Given the description of an element on the screen output the (x, y) to click on. 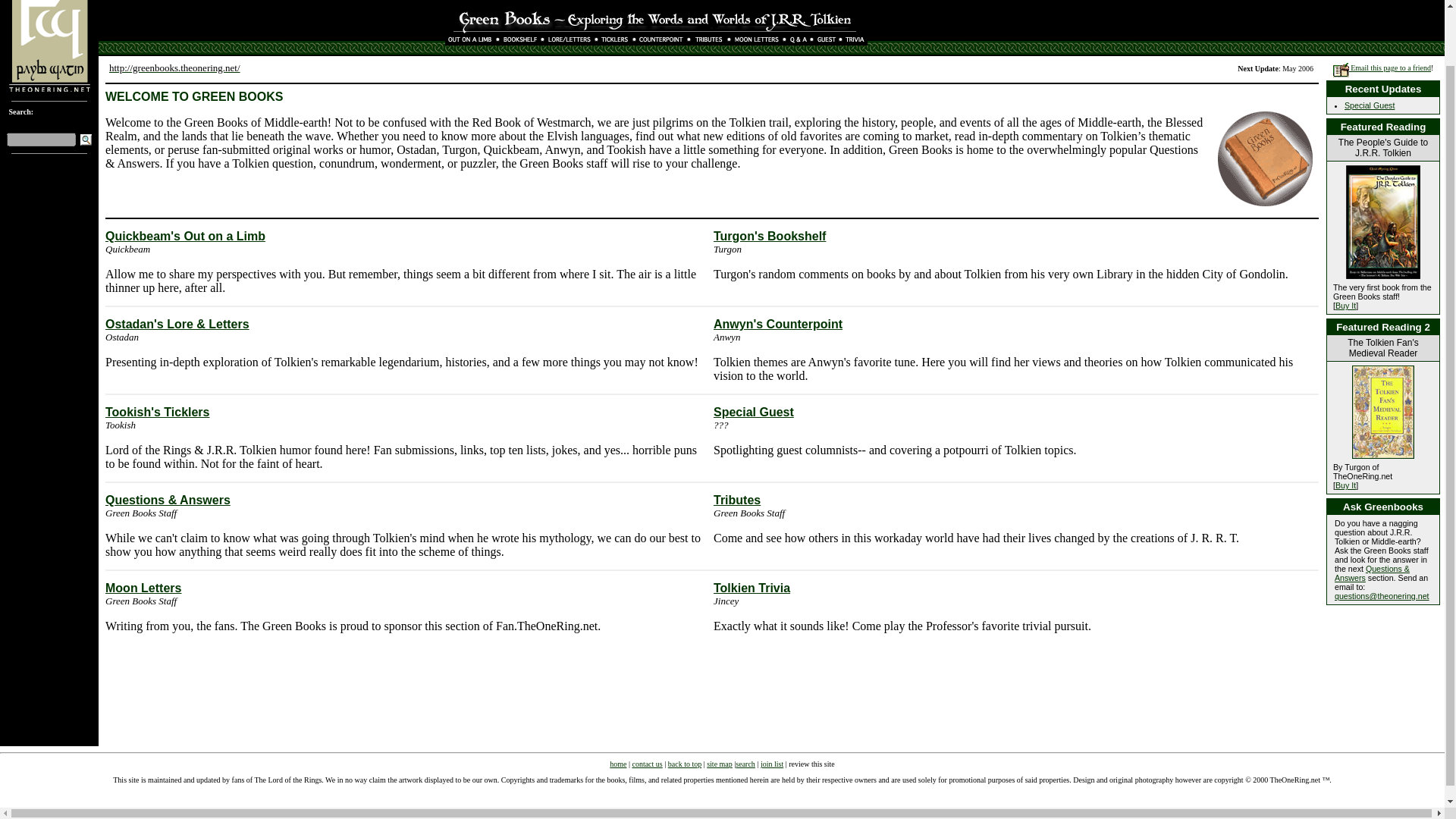
review this site (811, 764)
Buy It (1345, 484)
Tributes (736, 499)
search (745, 764)
Moon Letters (142, 587)
Buy It (1345, 305)
Special Guest (753, 411)
Anwyn's Counterpoint (778, 323)
back to top (684, 764)
Email this page to a friend (1382, 67)
site map (719, 764)
contact us (646, 764)
Tolkien Trivia (751, 587)
Special Guest (1368, 104)
Turgon's Bookshelf (769, 236)
